Given the description of an element on the screen output the (x, y) to click on. 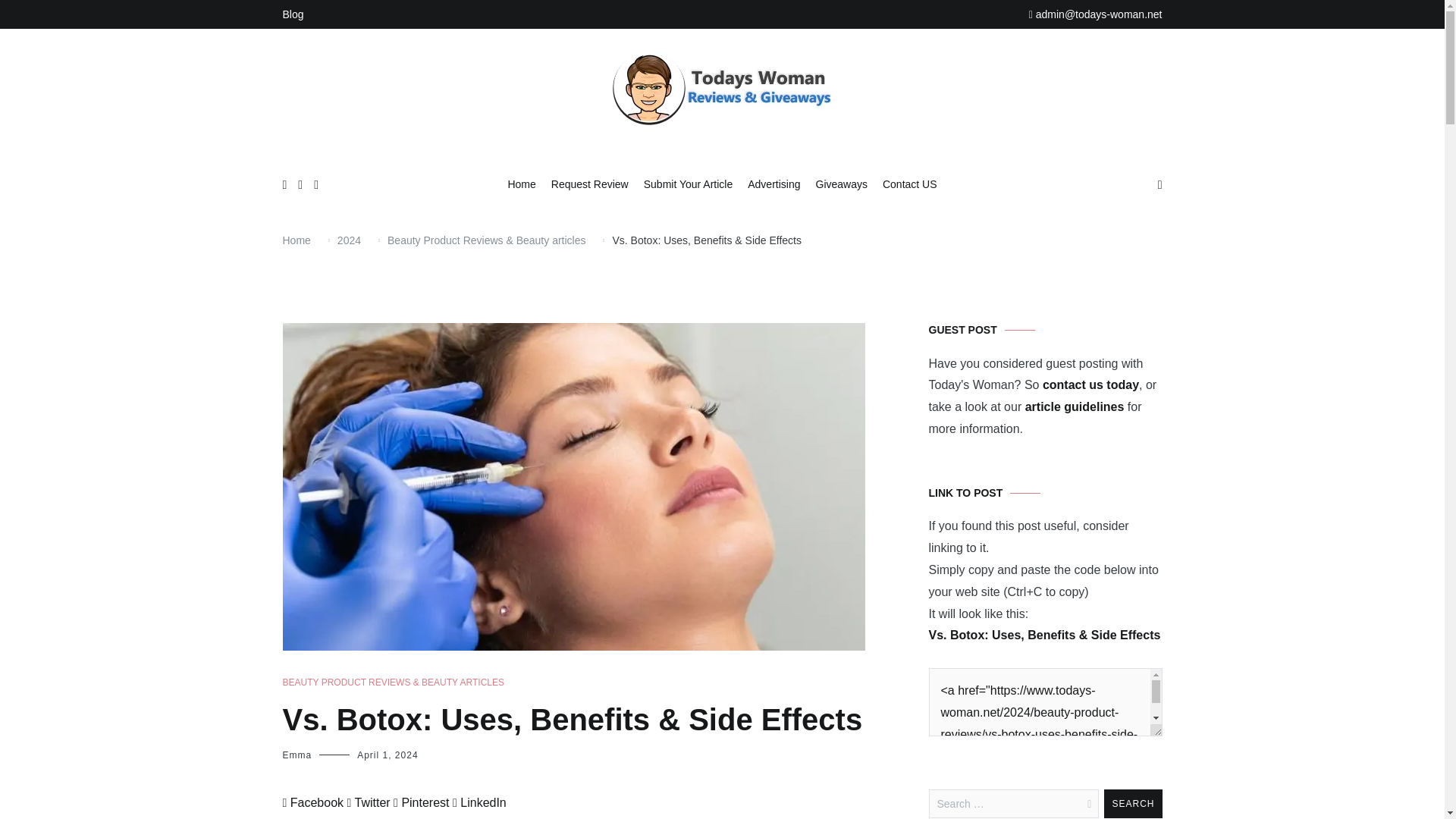
Search (1132, 803)
Emma (296, 755)
2024 (349, 240)
Pinterest (420, 802)
Facebook (312, 802)
Giveaways (841, 185)
Contact US (909, 185)
Submit Your Article (688, 185)
contact us today (1090, 384)
Advertising (773, 185)
Request Review (589, 185)
Blog (292, 14)
LinkedIn (479, 802)
Home (296, 240)
Today's Woman, Articles, Product Reviews and Giveaways (829, 165)
